Given the description of an element on the screen output the (x, y) to click on. 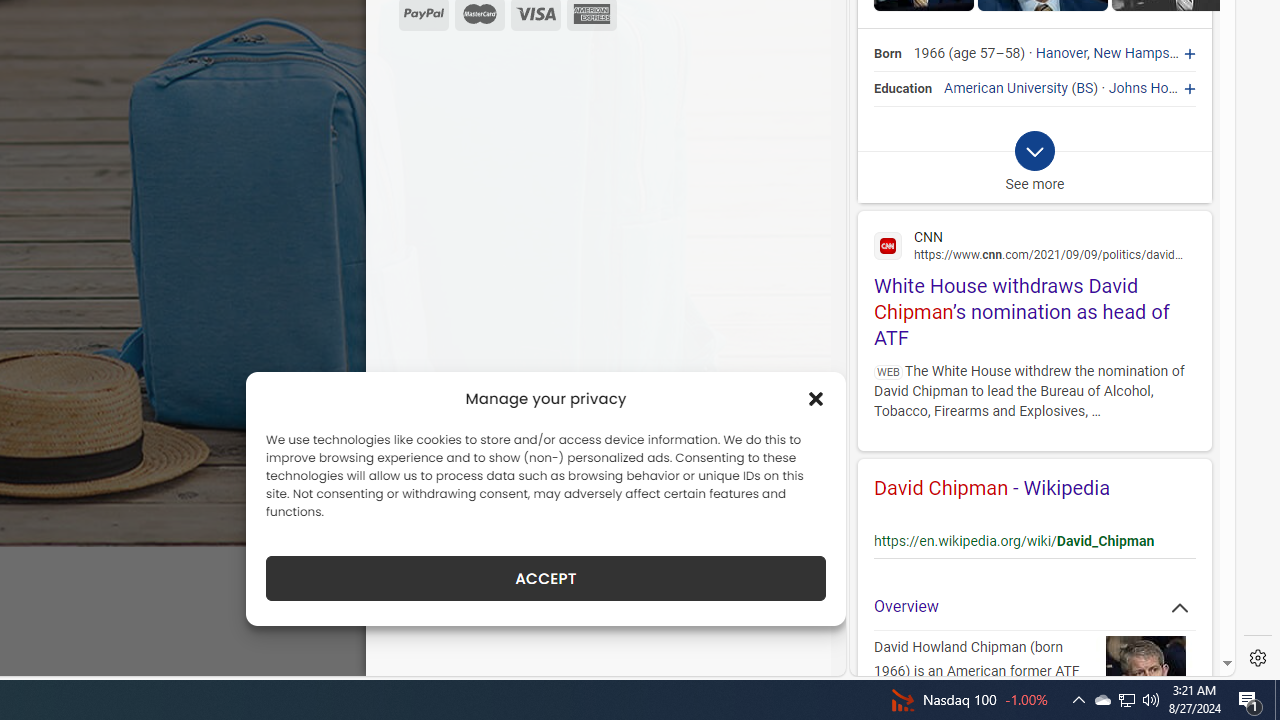
Overview (1034, 606)
Class: cmplz-close (815, 398)
Born (888, 53)
